Given the description of an element on the screen output the (x, y) to click on. 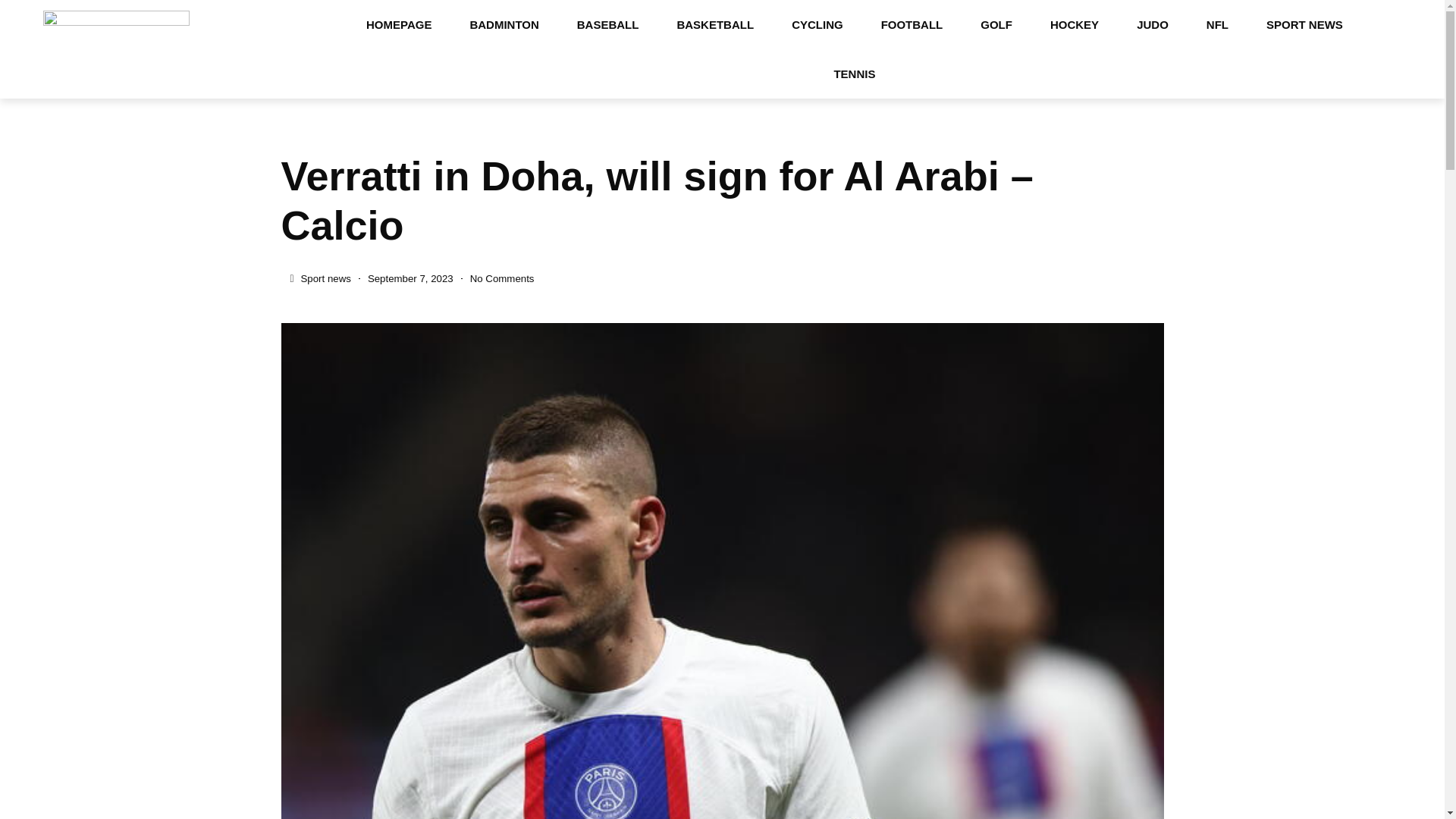
JUDO (1153, 24)
BADMINTON (503, 24)
BASKETBALL (715, 24)
CYCLING (817, 24)
HOMEPAGE (398, 24)
GOLF (995, 24)
BASEBALL (607, 24)
FOOTBALL (911, 24)
SPORT NEWS (1304, 24)
HOCKEY (1074, 24)
TENNIS (853, 73)
NFL (1217, 24)
